Given the description of an element on the screen output the (x, y) to click on. 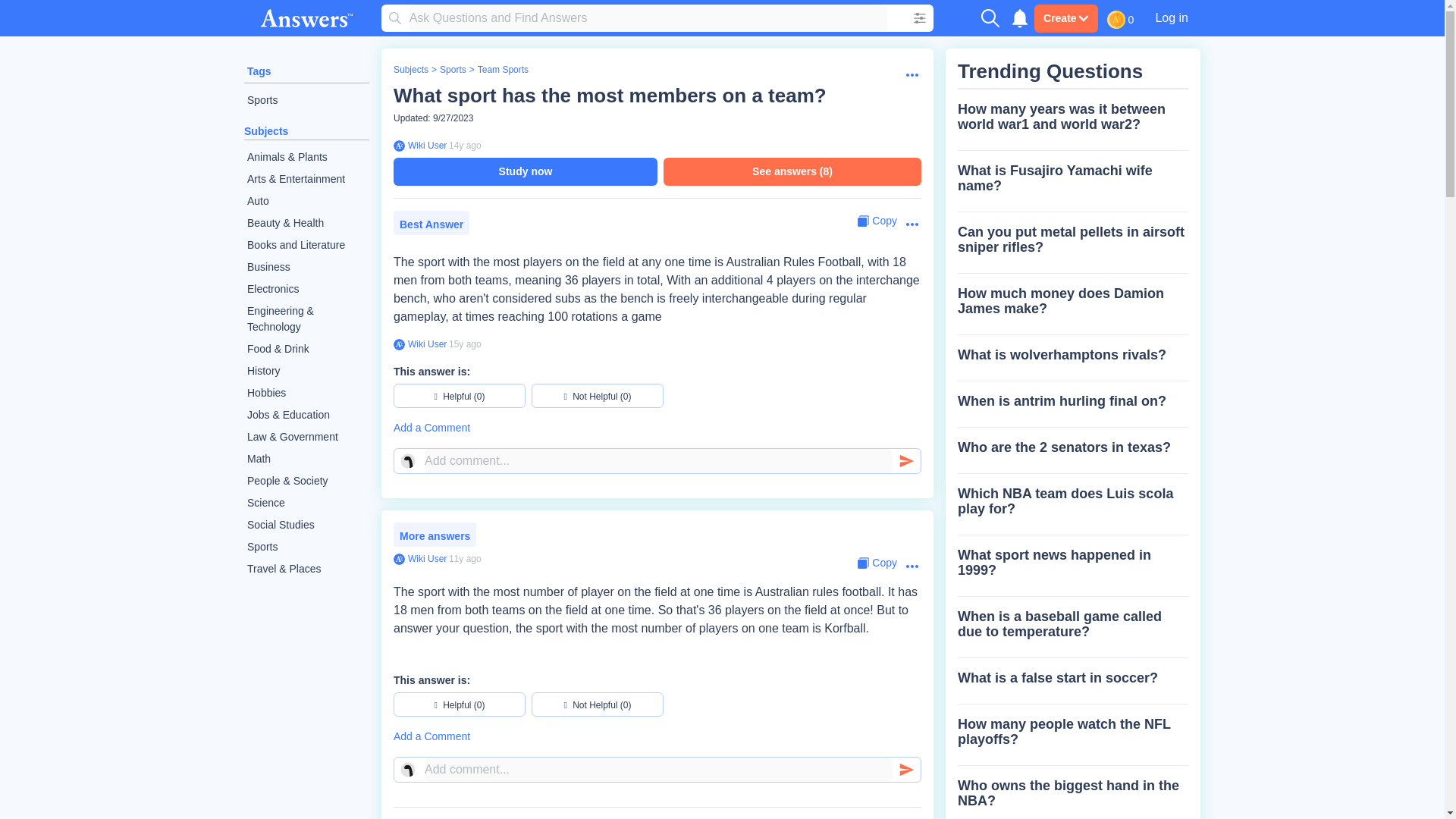
Tags (258, 70)
What sport has the most members on a team? (610, 95)
Log in (1170, 17)
Study now (525, 171)
Sports (306, 546)
Science (306, 503)
Create (1065, 18)
Math (306, 458)
Auto (306, 201)
Team Sports (502, 69)
Business (306, 267)
2010-02-15 11:06:47 (464, 145)
Add a Comment (657, 427)
Social Studies (306, 525)
Subjects (410, 69)
